Given the description of an element on the screen output the (x, y) to click on. 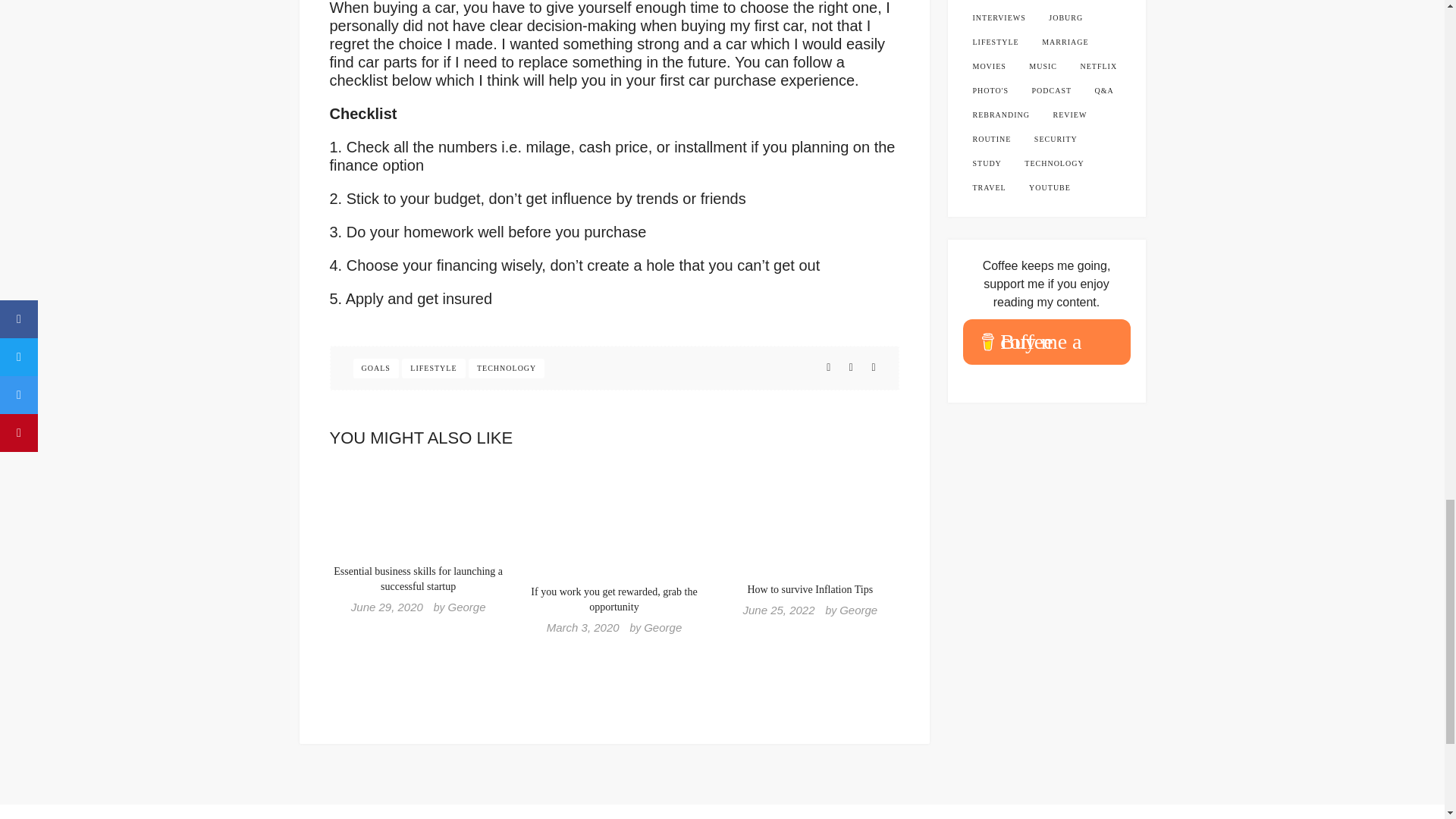
June 29, 2020 (386, 606)
TECHNOLOGY (506, 368)
How to survive Inflation Tips (809, 589)
March 3, 2020 (583, 626)
GOALS (375, 368)
George (662, 626)
If you work you get rewarded, grab the opportunity (614, 599)
LIFESTYLE (432, 368)
George (465, 606)
June 25, 2022 (777, 609)
Essential business skills for launching a successful startup (417, 578)
George (858, 609)
